Given the description of an element on the screen output the (x, y) to click on. 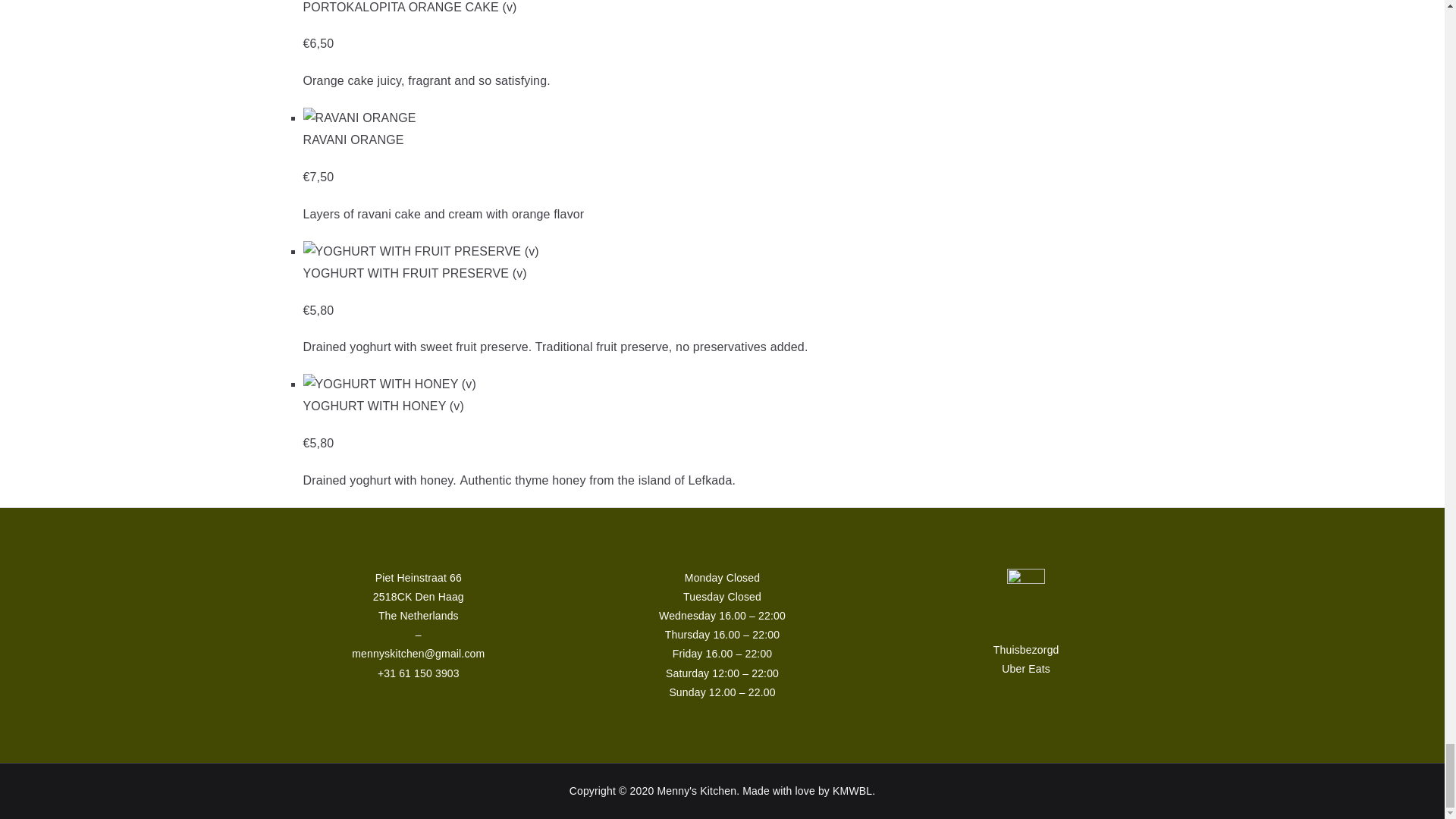
Uber Eats (1025, 668)
Menny's Kitchen (696, 790)
KMWBL (852, 790)
Thuisbezorgd (1025, 649)
